Given the description of an element on the screen output the (x, y) to click on. 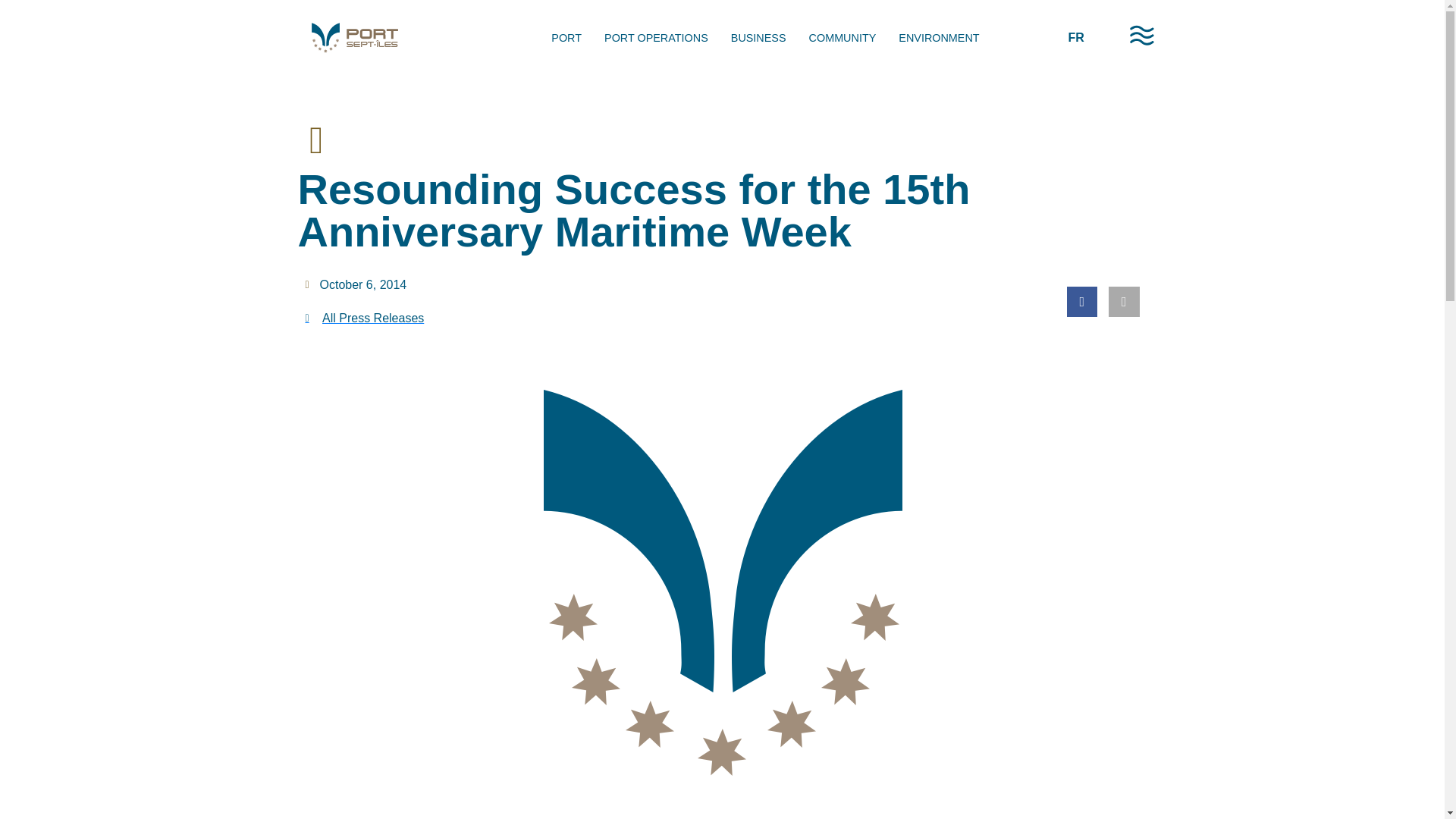
Menu blueCreated with Sketch. (1141, 37)
PORT (565, 37)
PORT OPERATIONS (655, 37)
BUSINESS (758, 37)
Menu blueCreated with Sketch. (1141, 35)
October 6, 2014 (355, 285)
COMMUNITY (842, 37)
All Press Releases (509, 318)
ENVIRONMENT (938, 37)
FR (1075, 38)
